Given the description of an element on the screen output the (x, y) to click on. 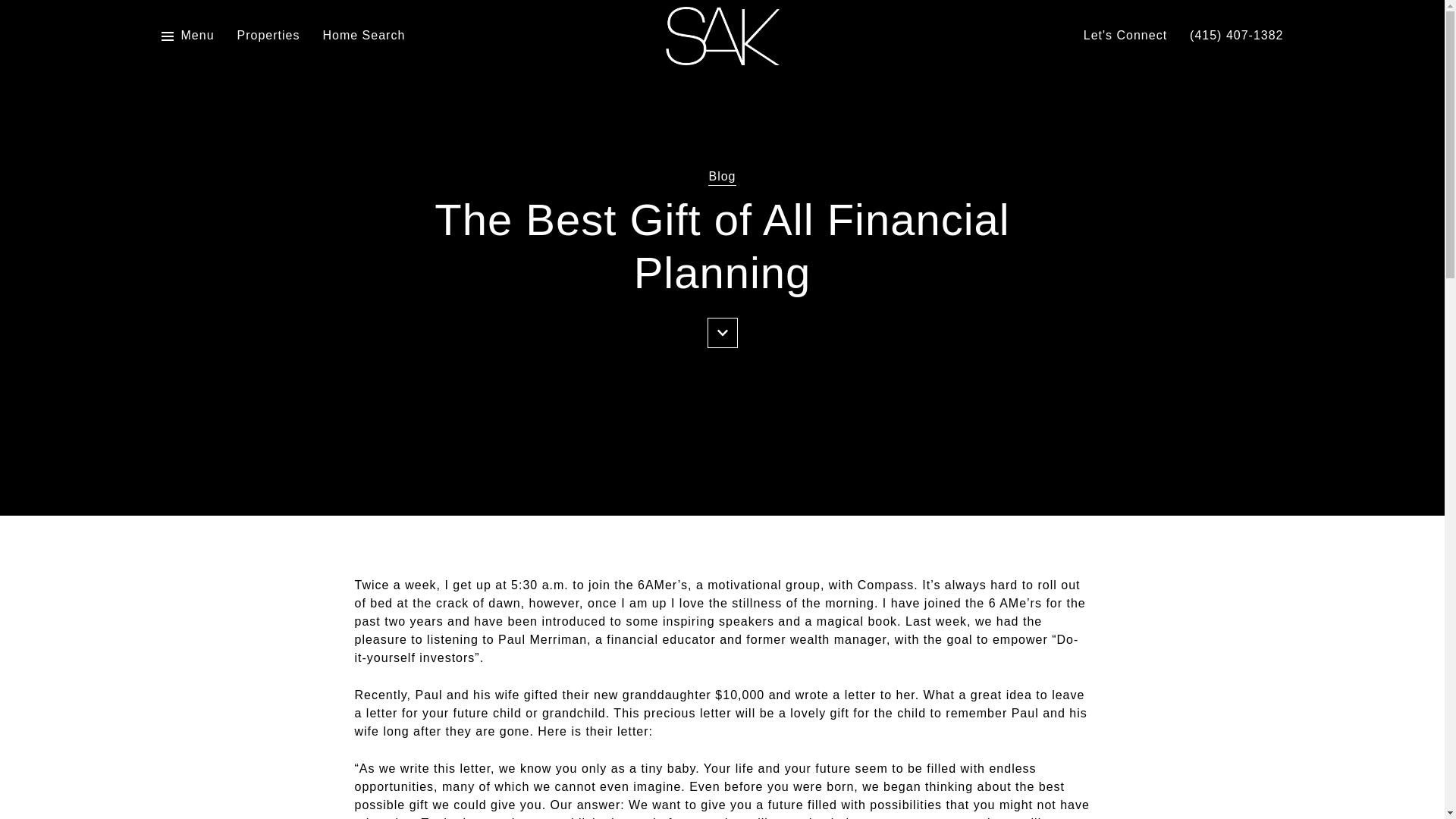
Properties (268, 35)
Menu (197, 35)
Home Search (362, 35)
Menu (187, 35)
Let'S Connect (1125, 35)
